Given the description of an element on the screen output the (x, y) to click on. 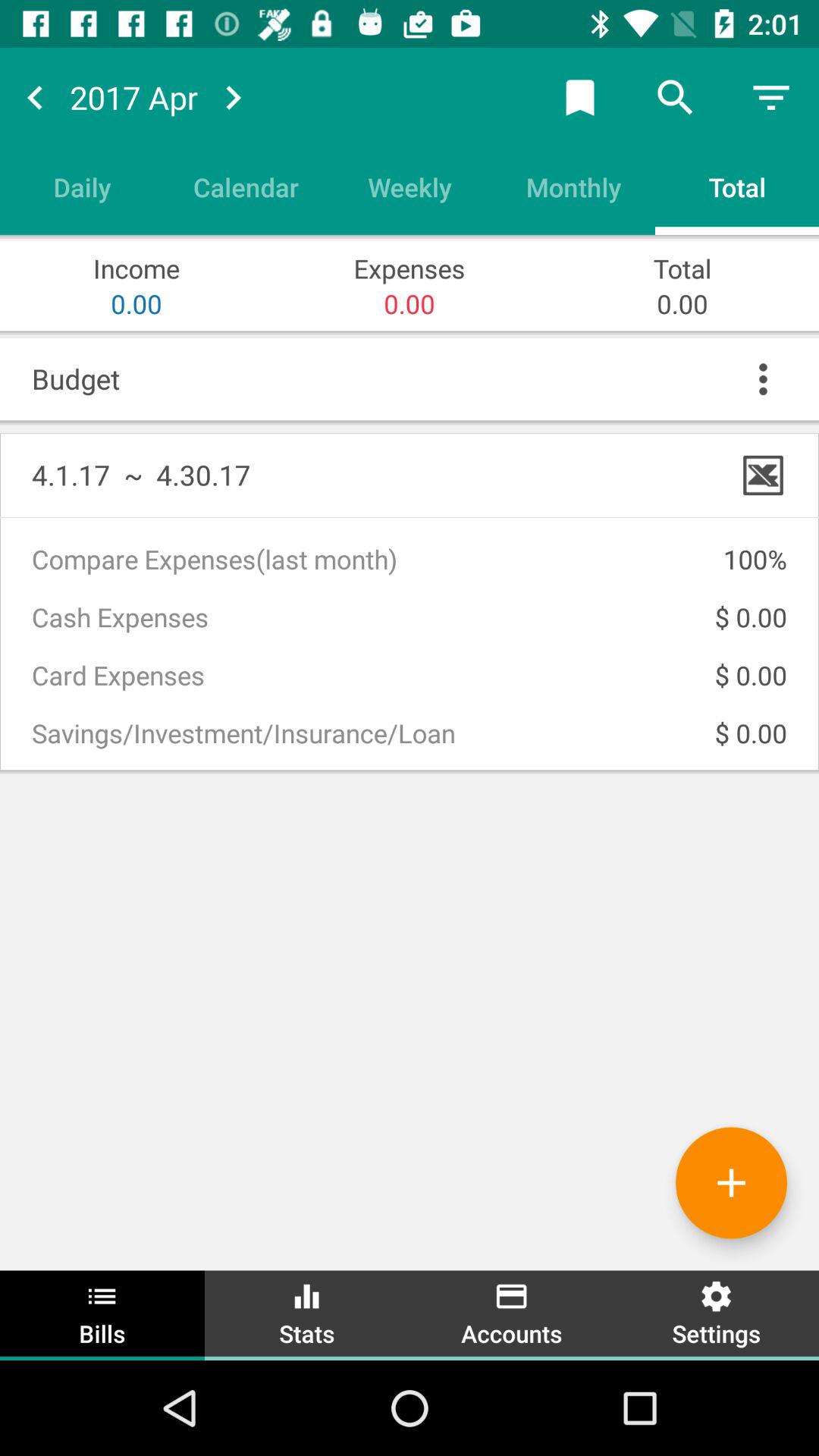
go to (232, 97)
